Given the description of an element on the screen output the (x, y) to click on. 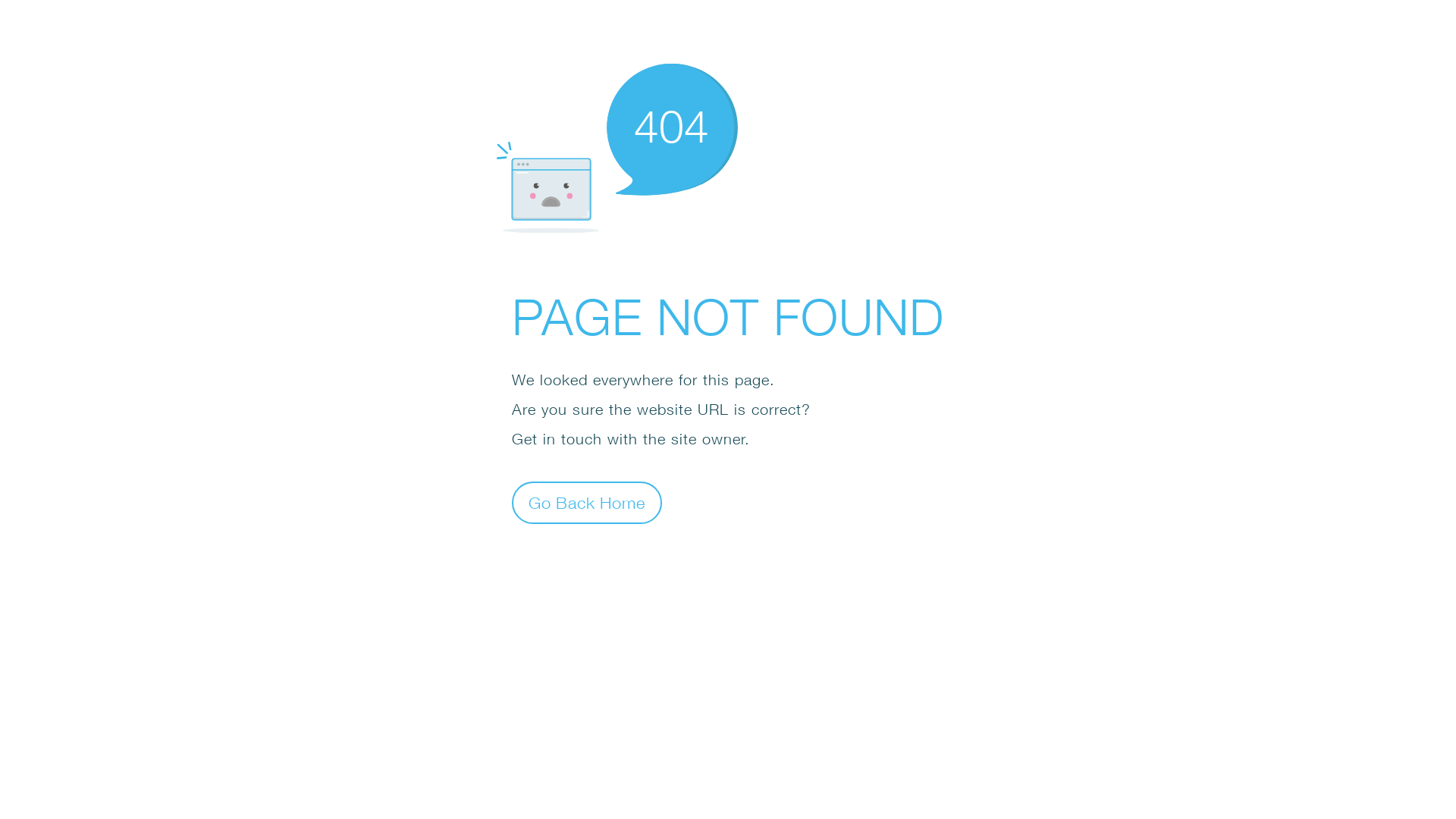
Go Back Home Element type: text (586, 502)
